Given the description of an element on the screen output the (x, y) to click on. 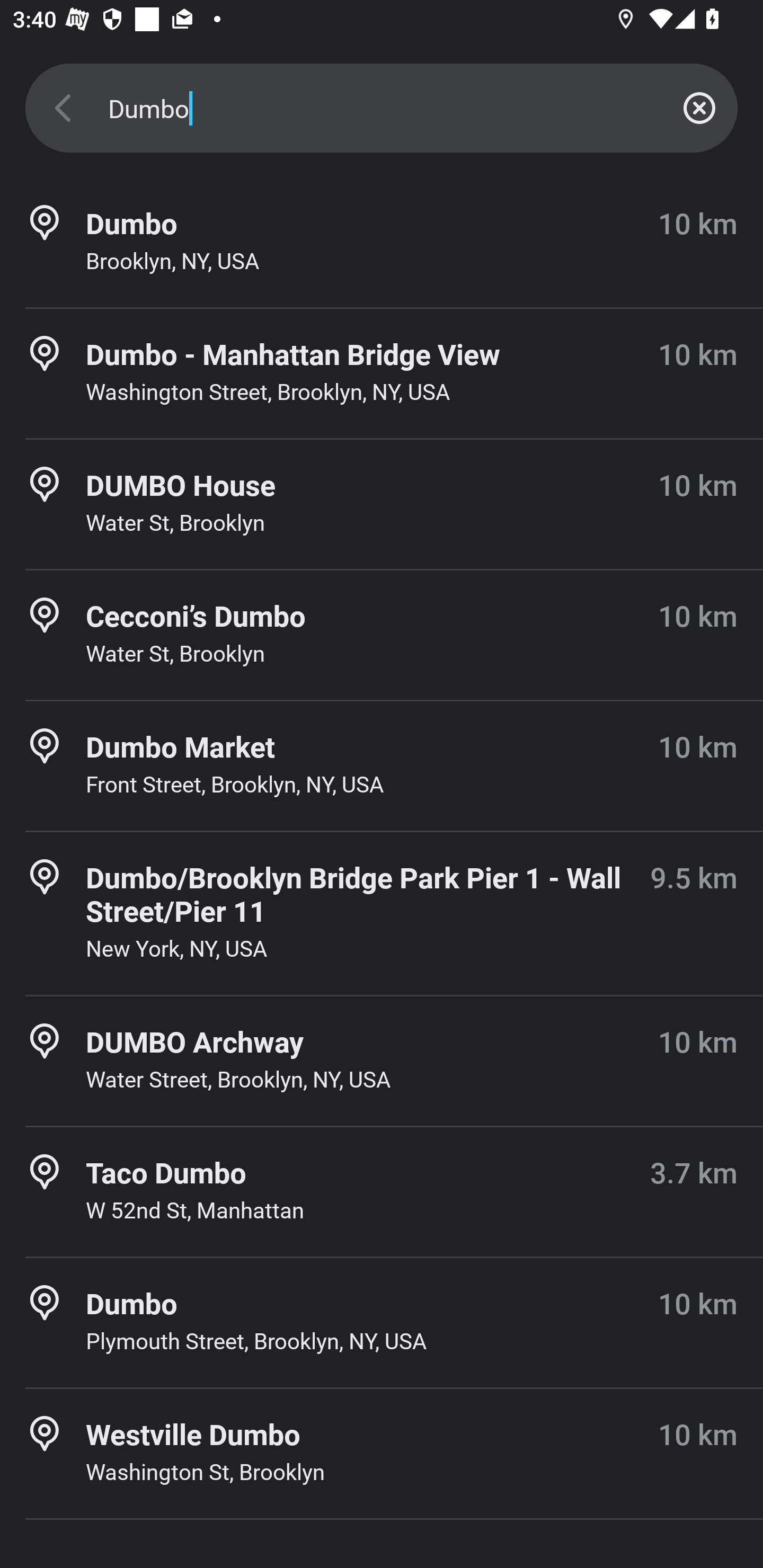
Dumbo SEARCH_SCREEN_SEARCH_FIELD (381, 108)
Dumbo 10 km Brooklyn, NY, USA (381, 242)
DUMBO House 10 km Water St, Brooklyn (381, 504)
Cecconi’s Dumbo 10 km Water St, Brooklyn (381, 634)
Dumbo Market 10 km Front Street, Brooklyn, NY, USA (381, 765)
Taco Dumbo 3.7 km W 52nd St, Manhattan (381, 1191)
Dumbo 10 km Plymouth Street, Brooklyn, NY, USA (381, 1322)
Westville Dumbo 10 km Washington St, Brooklyn (381, 1453)
